Given the description of an element on the screen output the (x, y) to click on. 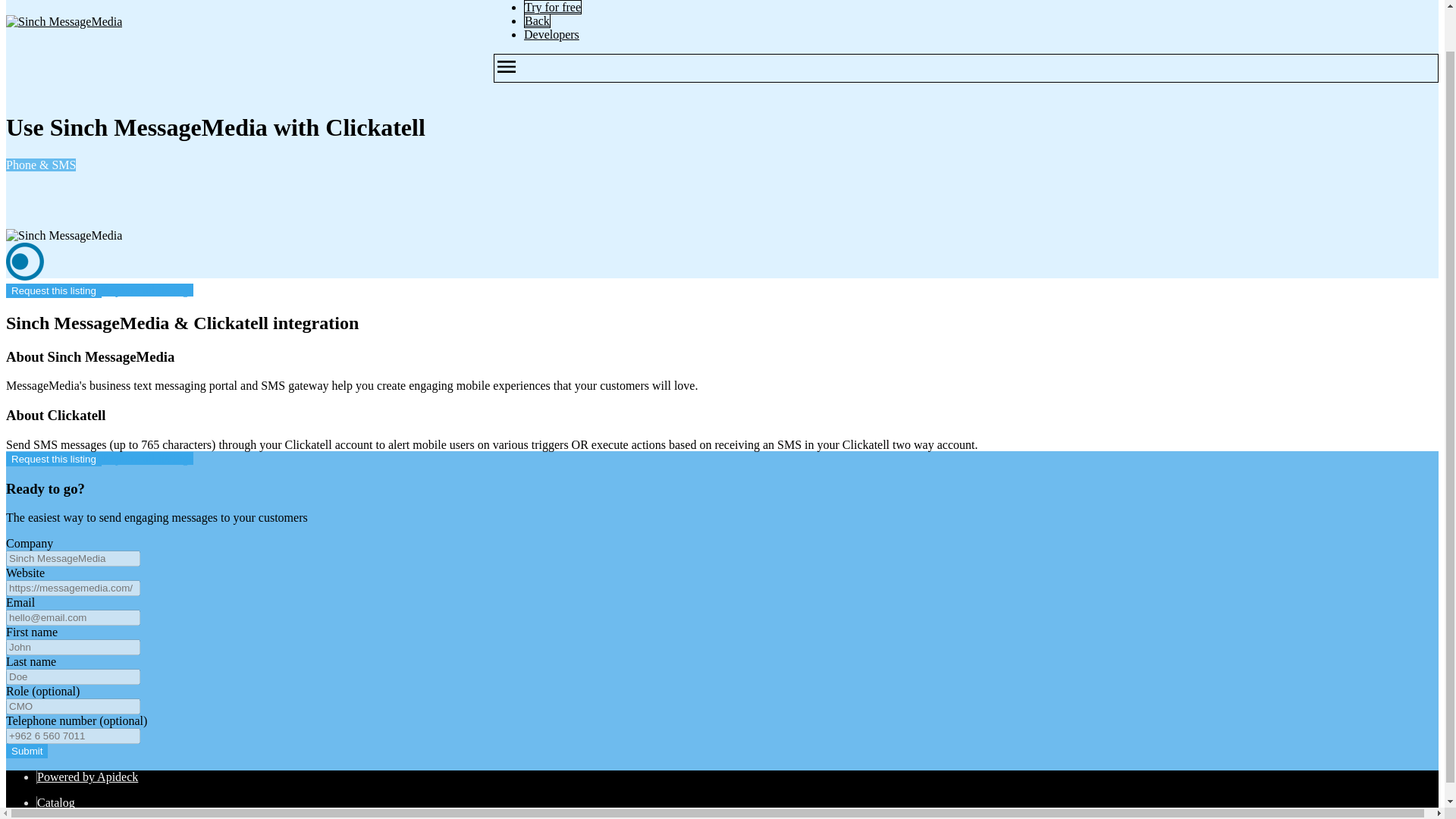
Sinch MessageMedia (63, 21)
Try for free (552, 7)
Developers (551, 33)
Back (537, 20)
Request this listing (53, 459)
Request this listing (53, 290)
Powered by Apideck (87, 776)
Submit (26, 750)
Explore all listings (147, 289)
Catalog (56, 802)
